Given the description of an element on the screen output the (x, y) to click on. 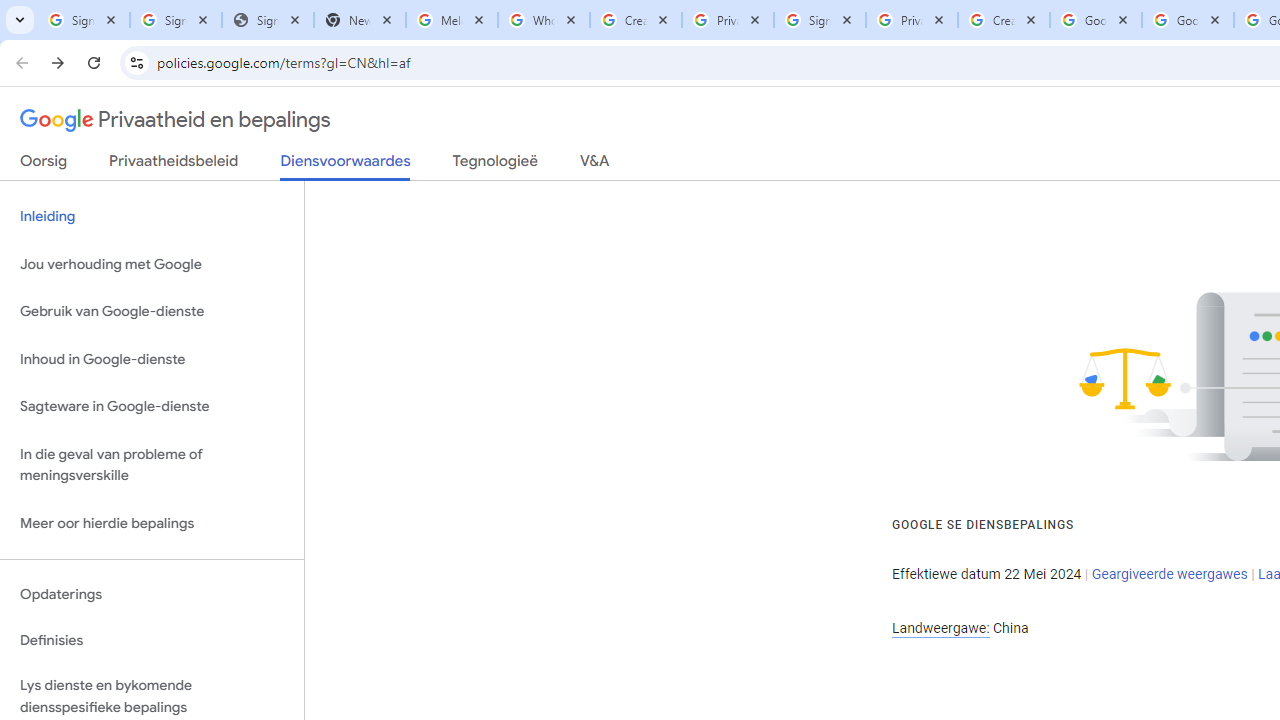
Geargiveerde weergawes (1169, 574)
Who is my administrator? - Google Account Help (543, 20)
Opdaterings (152, 594)
Sign in - Google Accounts (820, 20)
